Given the description of an element on the screen output the (x, y) to click on. 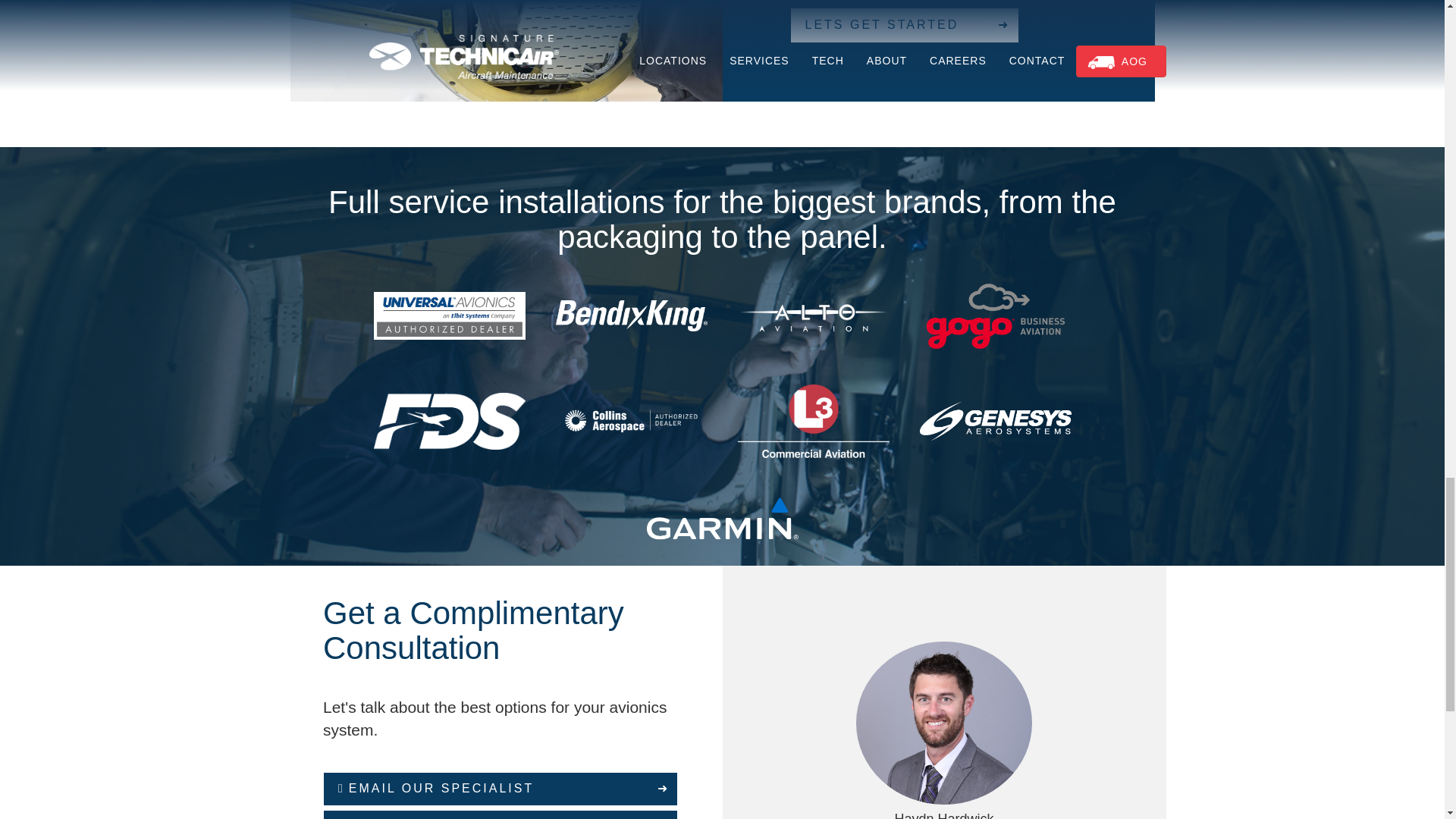
CALL OUR SPECIALIST (500, 814)
LETS GET STARTED (903, 25)
EMAIL OUR SPECIALIST (500, 788)
